Given the description of an element on the screen output the (x, y) to click on. 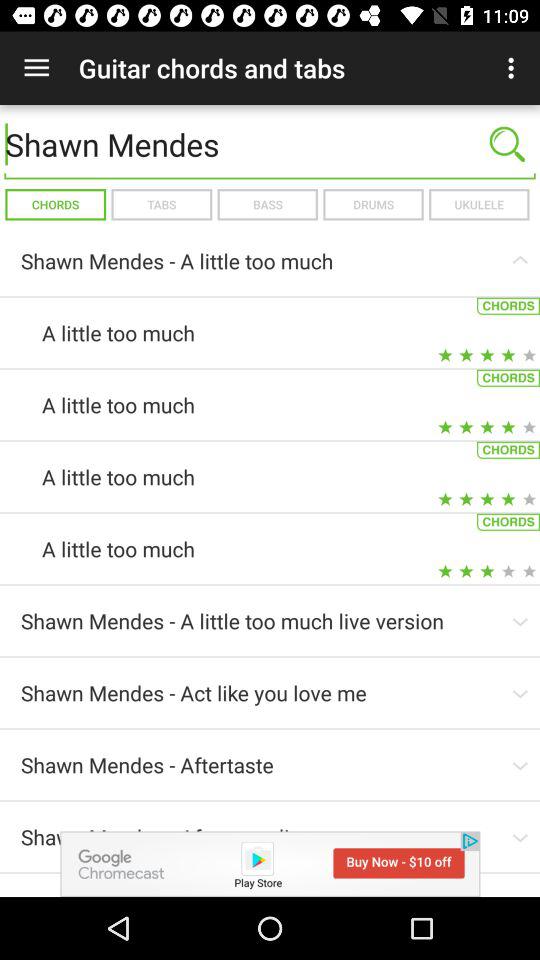
jump to bass item (267, 204)
